Given the description of an element on the screen output the (x, y) to click on. 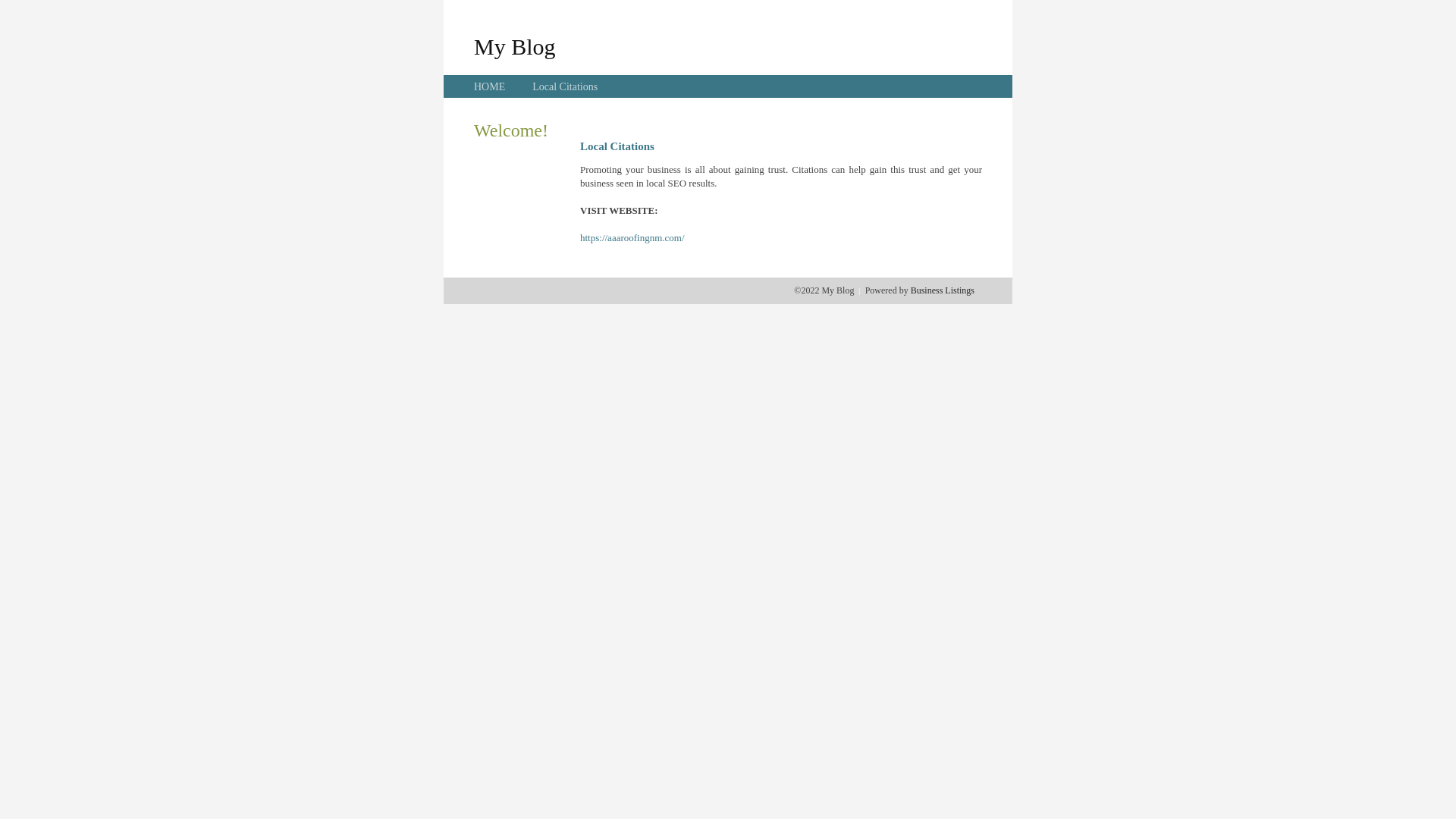
https://aaaroofingnm.com/ Element type: text (632, 237)
My Blog Element type: text (514, 46)
Local Citations Element type: text (564, 86)
HOME Element type: text (489, 86)
Business Listings Element type: text (942, 290)
